Given the description of an element on the screen output the (x, y) to click on. 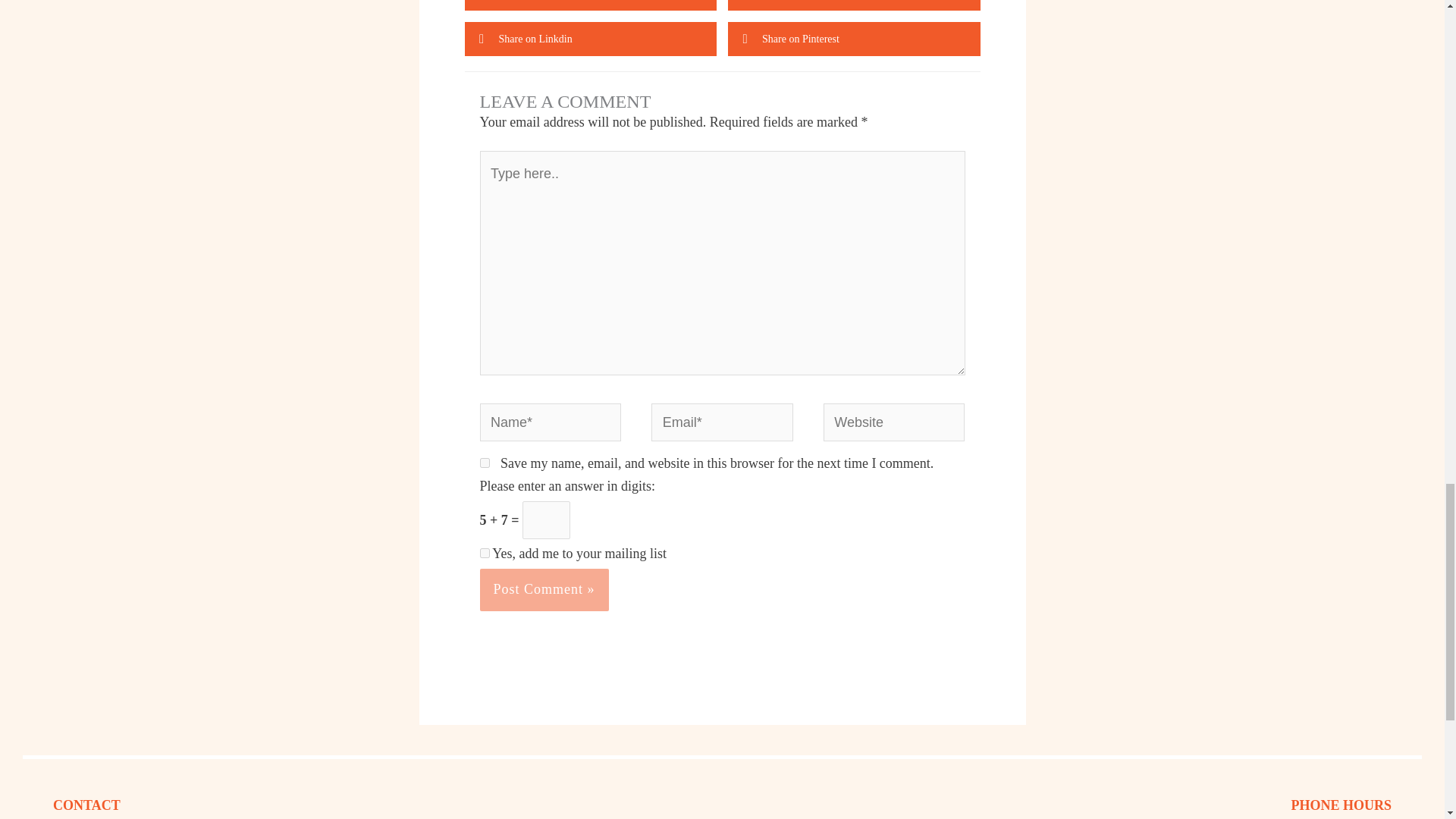
yes (484, 462)
1 (484, 552)
